Given the description of an element on the screen output the (x, y) to click on. 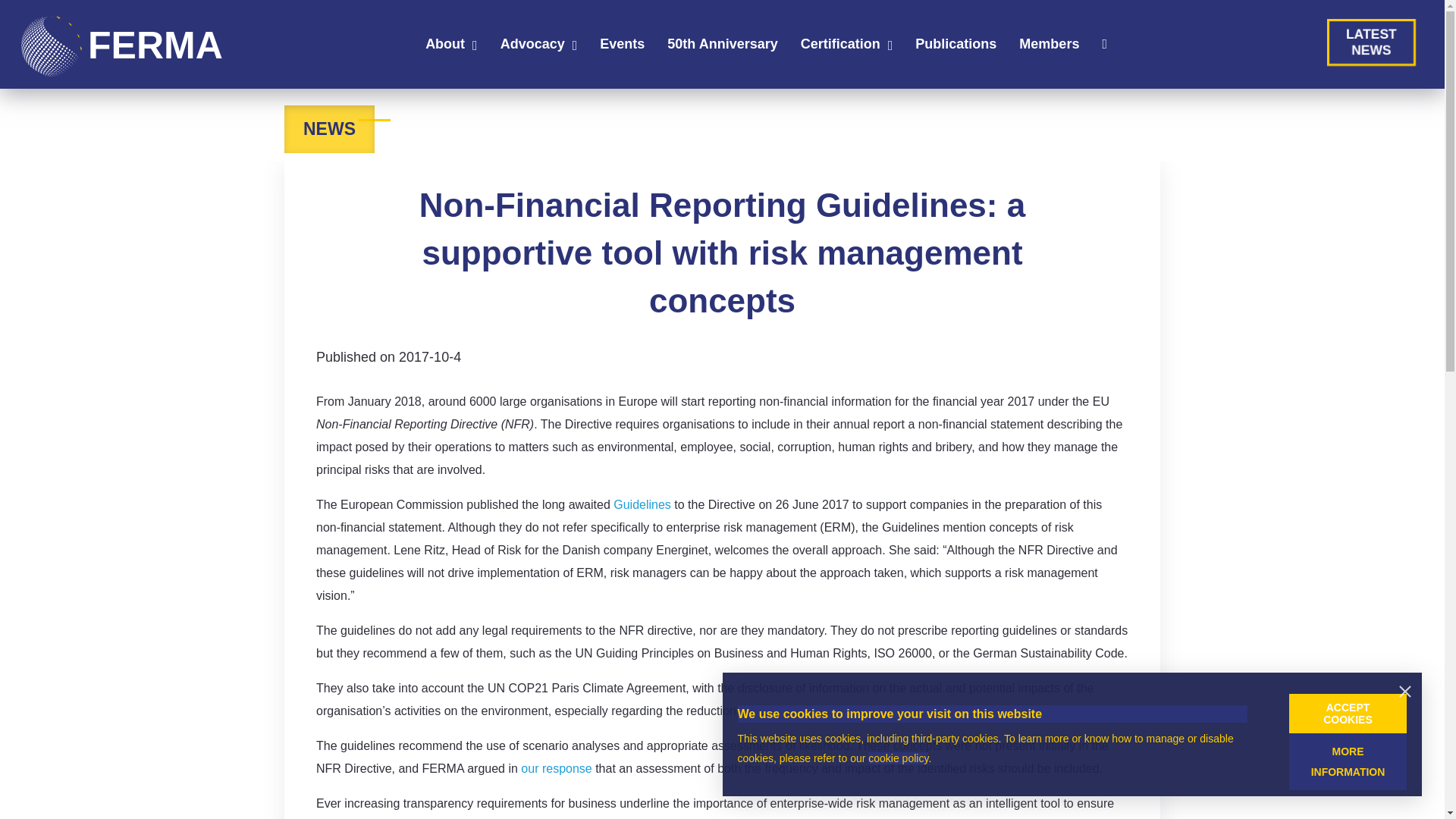
50th Anniversary (721, 48)
Publications (955, 48)
our response (1368, 33)
Events (556, 768)
About (622, 48)
Certification (444, 48)
Members (840, 48)
Advocacy (1048, 48)
FERMA (532, 48)
Website of Ferma (109, 45)
Guidelines (109, 45)
